Given the description of an element on the screen output the (x, y) to click on. 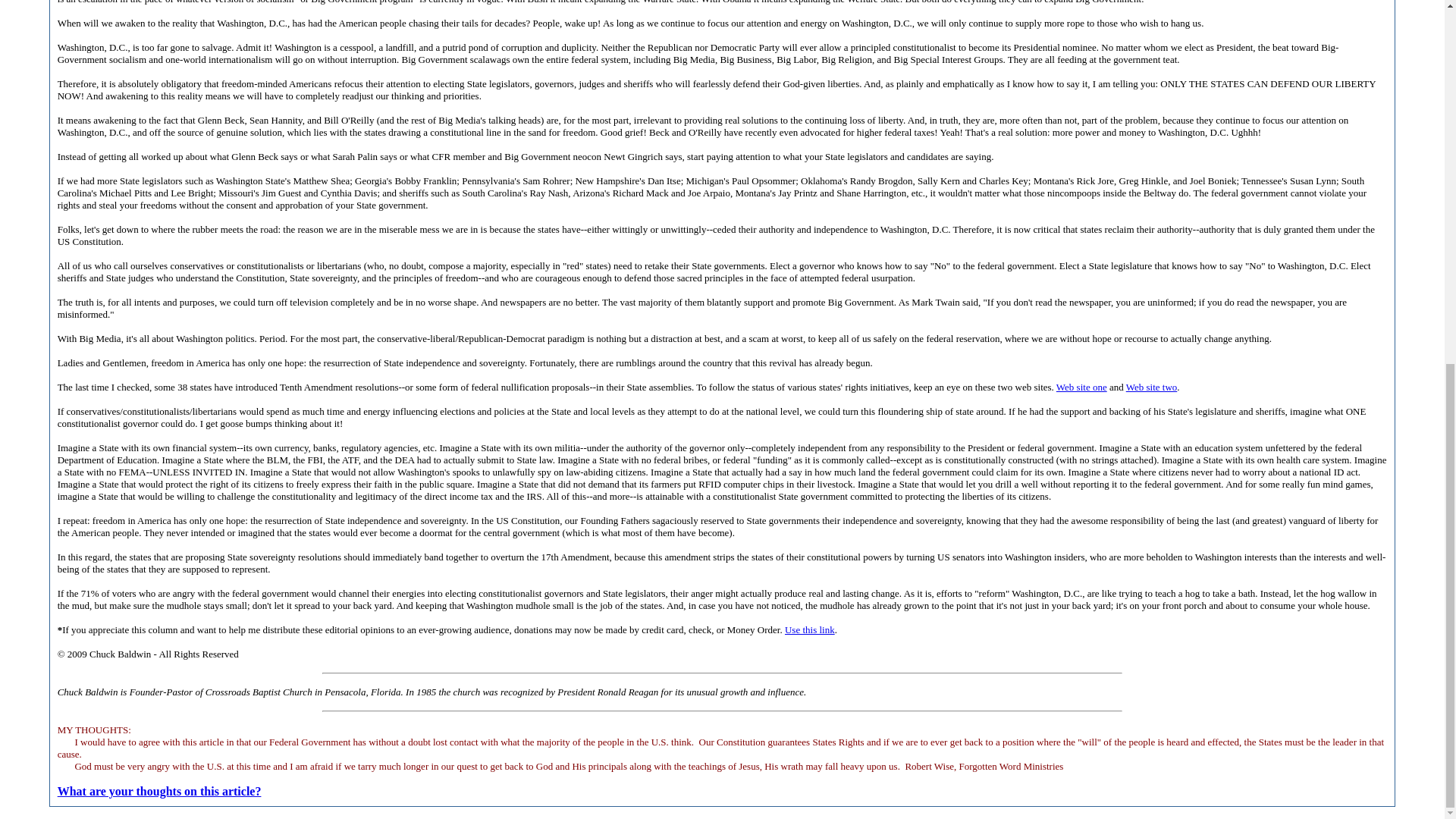
What are your thoughts on this article? (160, 790)
Web site two (1151, 387)
Use this link (809, 629)
Web site one (1081, 387)
